Given the description of an element on the screen output the (x, y) to click on. 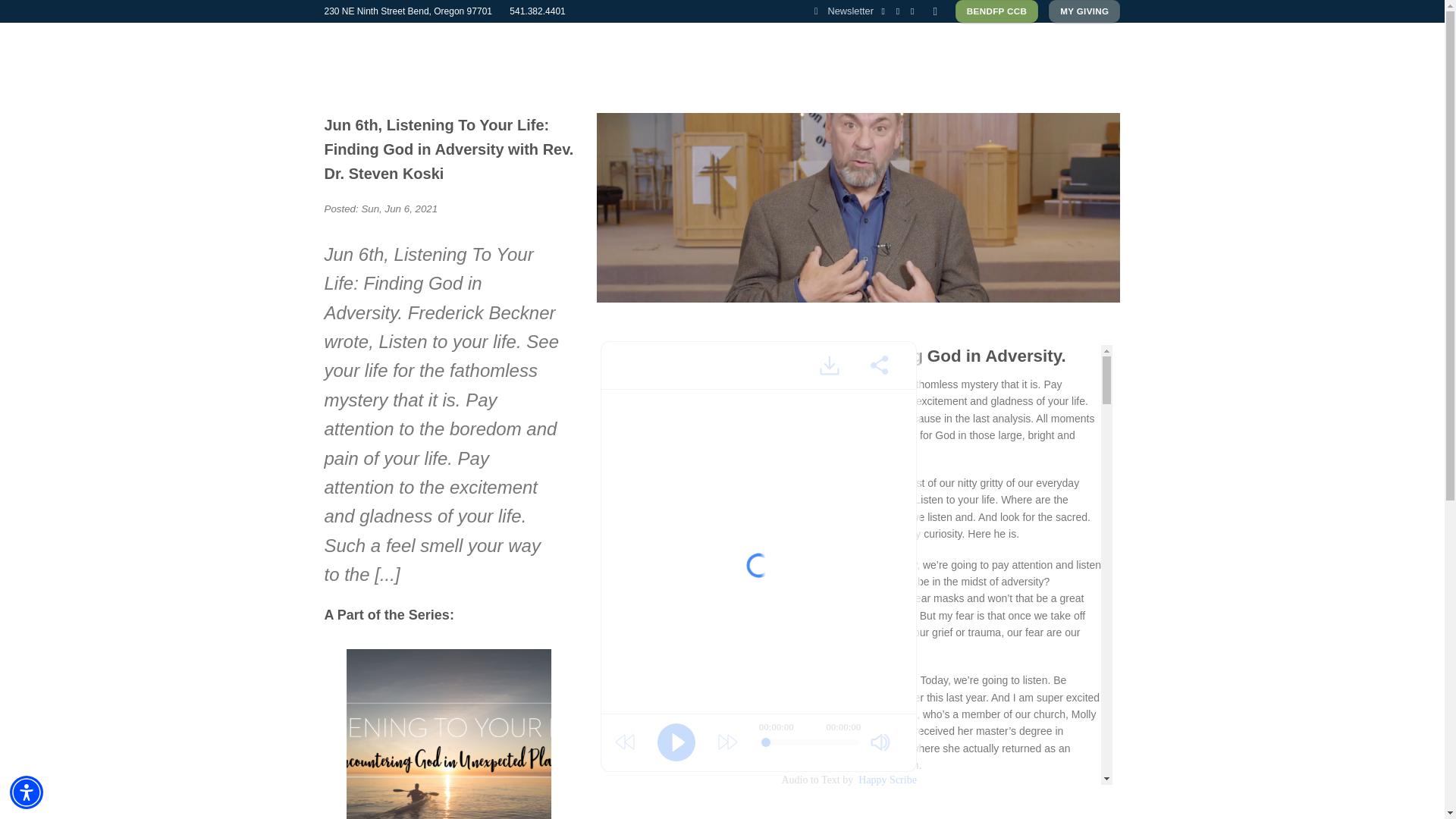
0 (810, 742)
230 NE Ninth Street Bend, Oregon 97701 (408, 10)
Newsletter (843, 11)
PEOPLE (678, 41)
Sign up for Newsletter (843, 11)
WORSHIP (819, 41)
MY GIVING (1083, 11)
ABOUT (618, 41)
CONNECT (747, 41)
